Given the description of an element on the screen output the (x, y) to click on. 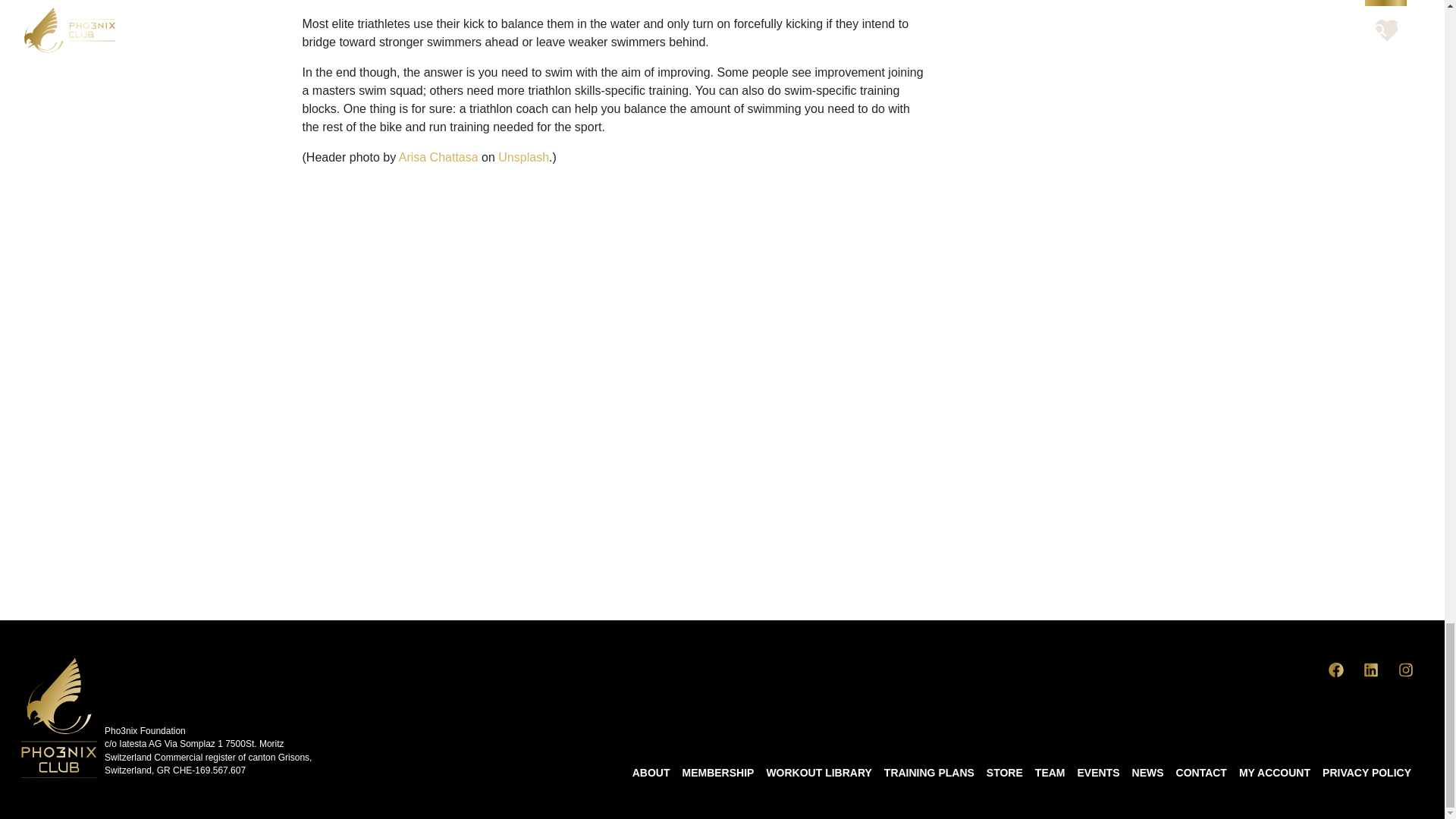
ABOUT (651, 770)
MEMBERSHIP (717, 770)
TRAINING PLANS (928, 770)
Arisa Chattasa (438, 156)
WORKOUT LIBRARY (818, 770)
Unsplash (522, 156)
